Given the description of an element on the screen output the (x, y) to click on. 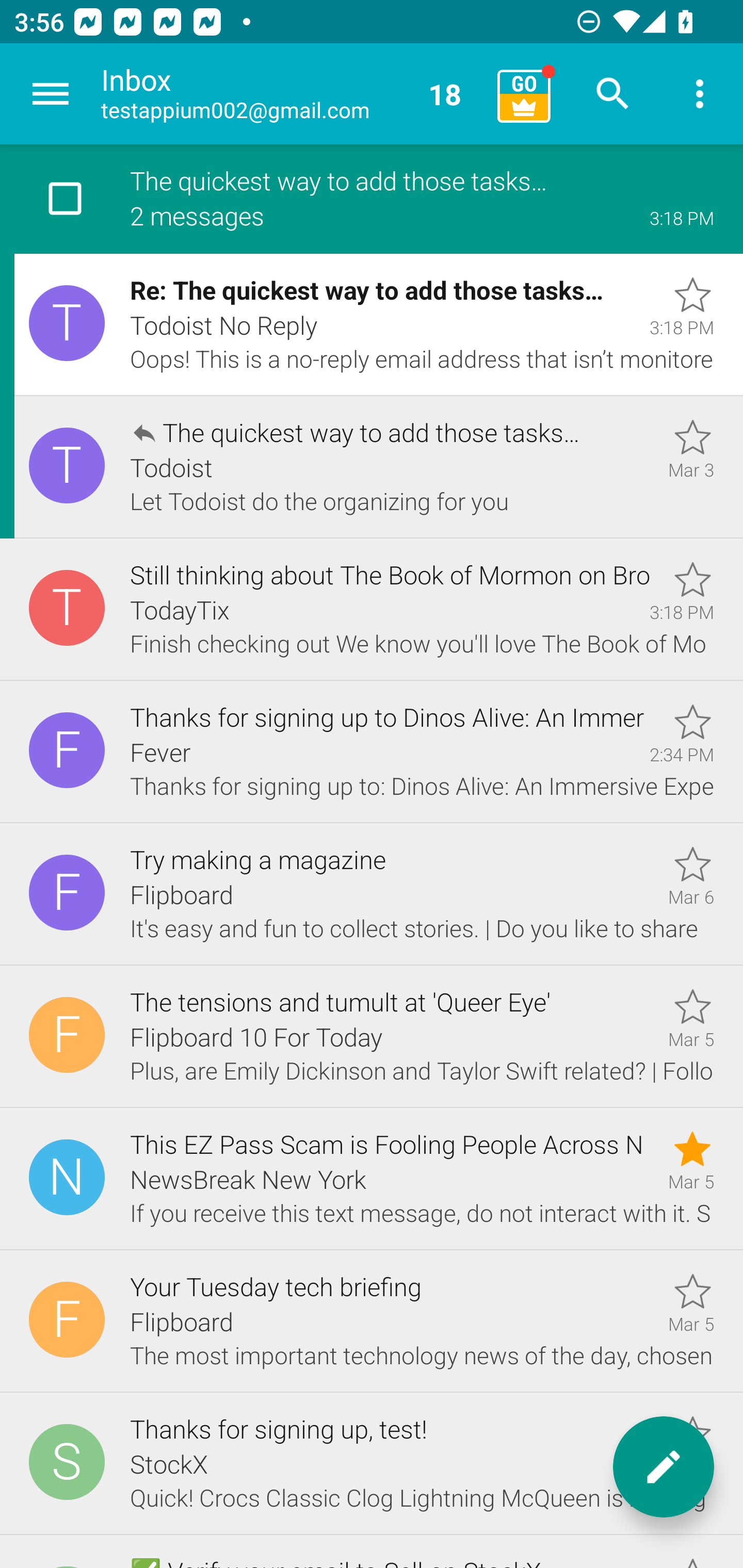
Navigate up (50, 93)
Inbox testappium002@gmail.com 18 (291, 93)
Search (612, 93)
More options (699, 93)
New message (663, 1466)
